Given the description of an element on the screen output the (x, y) to click on. 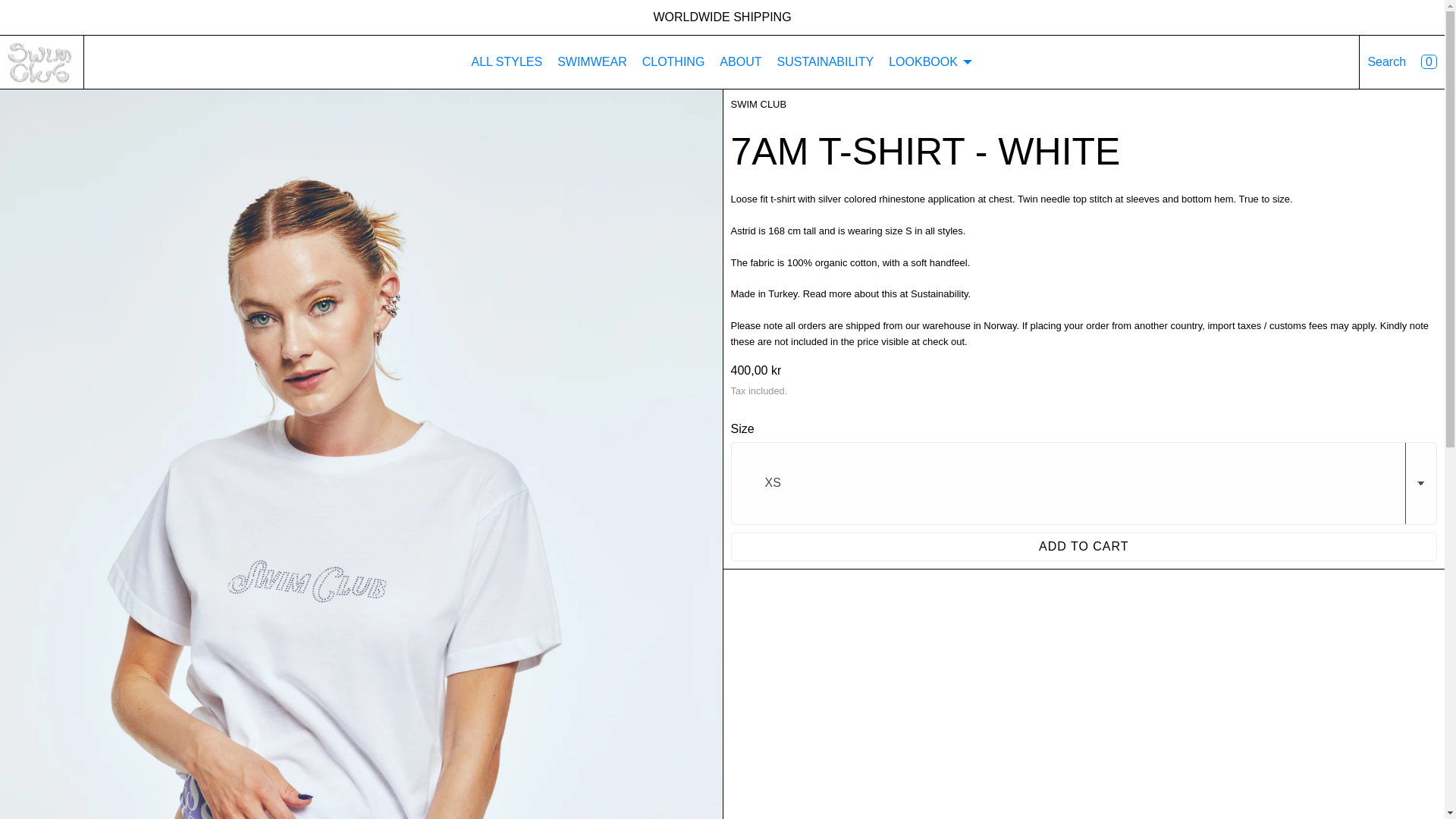
SWIMWEAR (592, 62)
Search (1386, 61)
ABOUT (739, 62)
SUSTAINABILITY (824, 62)
ALL STYLES (506, 62)
WORLDWIDE SHIPPING (721, 16)
ADD TO CART (1084, 546)
CLOTHING (673, 62)
